Given the description of an element on the screen output the (x, y) to click on. 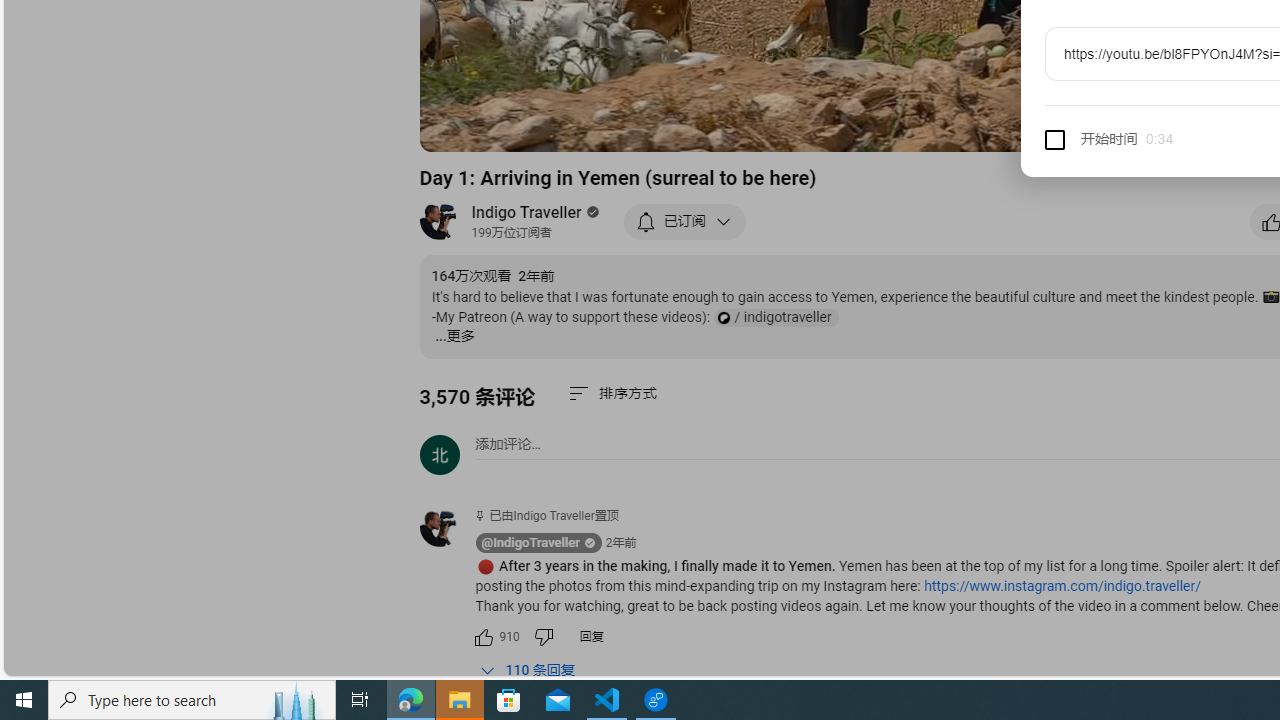
Class: style-scope tp-yt-paper-input (1170, 139)
@IndigoTraveller (447, 528)
Patreon Channel Link: indigotraveller (775, 318)
@IndigoTraveller (530, 543)
AutomationID: simplebox-placeholder (507, 444)
https://www.instagram.com/indigo.traveller/ (1062, 586)
